Given the description of an element on the screen output the (x, y) to click on. 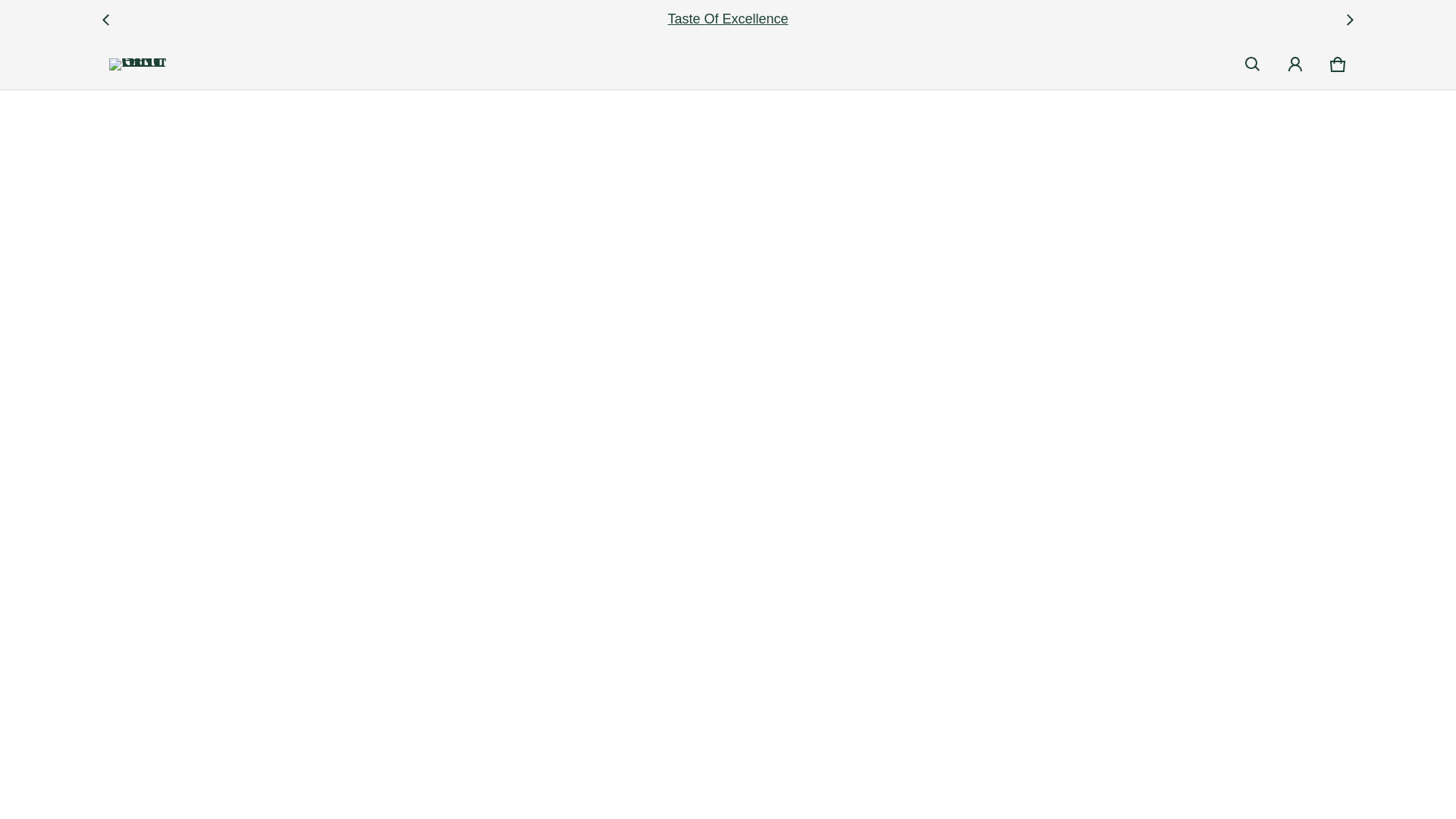
Taste Of Excellence (727, 19)
Taste Of Excellence (1337, 63)
